Given the description of an element on the screen output the (x, y) to click on. 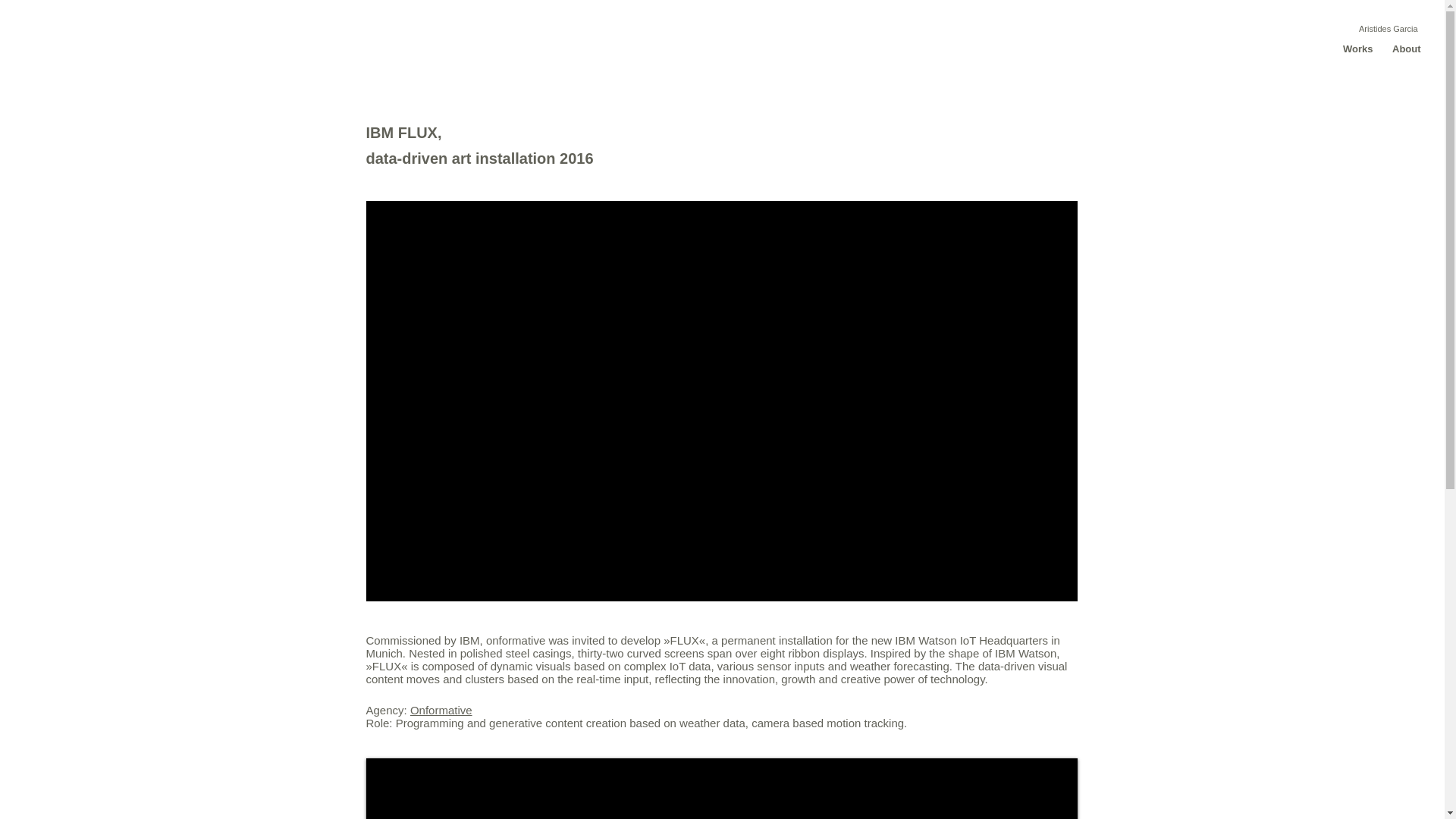
Onformative (440, 709)
